Given the description of an element on the screen output the (x, y) to click on. 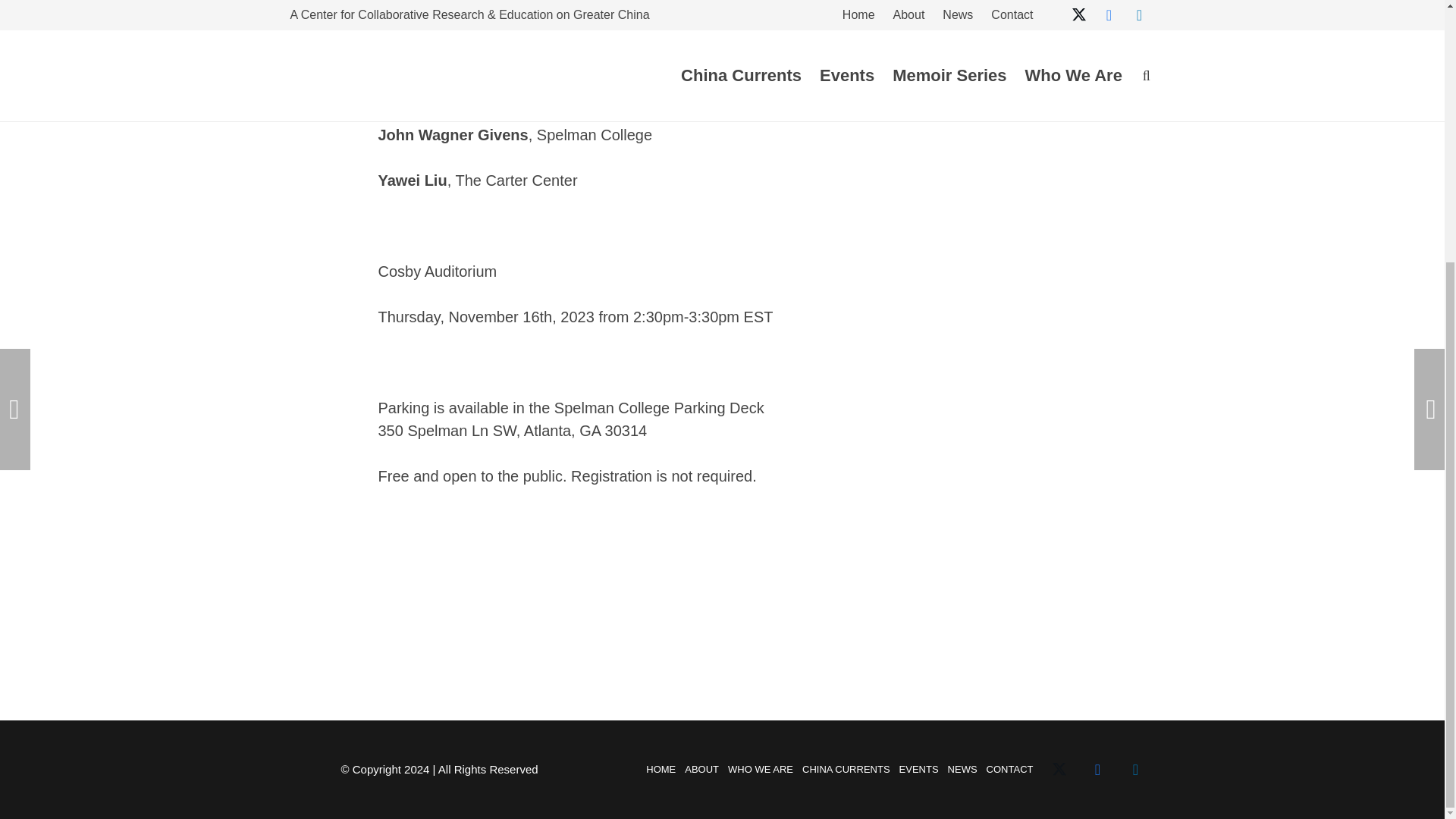
ABOUT (701, 768)
HOME (660, 768)
Twitter (1059, 769)
CHINA CURRENTS (845, 768)
Email this (898, 62)
LinkedIn (1135, 769)
Tweet this (988, 62)
WHO WE ARE (760, 768)
Share this (1034, 62)
Facebook (1097, 769)
Share this (943, 62)
